Given the description of an element on the screen output the (x, y) to click on. 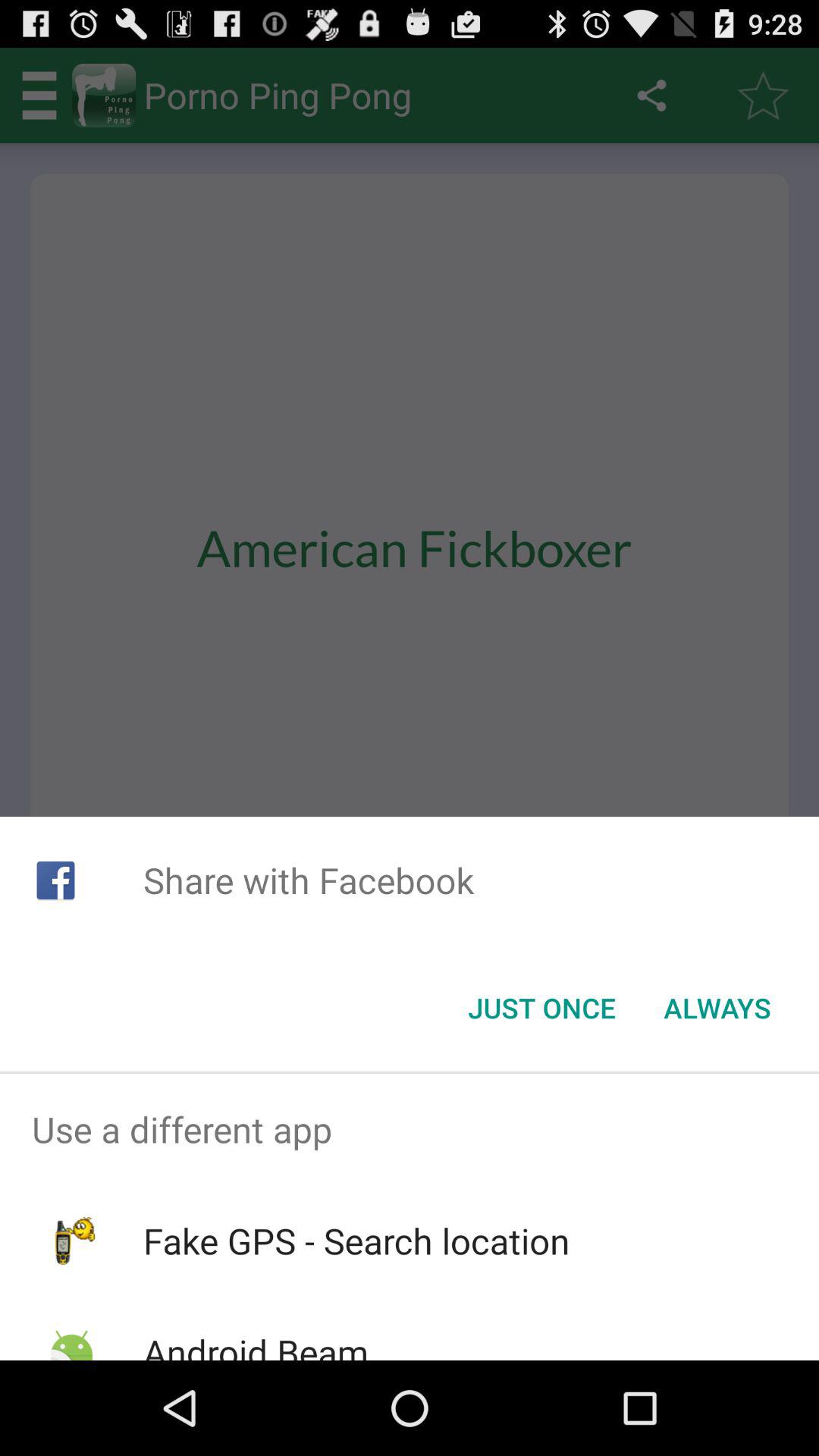
swipe to the android beam icon (255, 1344)
